Given the description of an element on the screen output the (x, y) to click on. 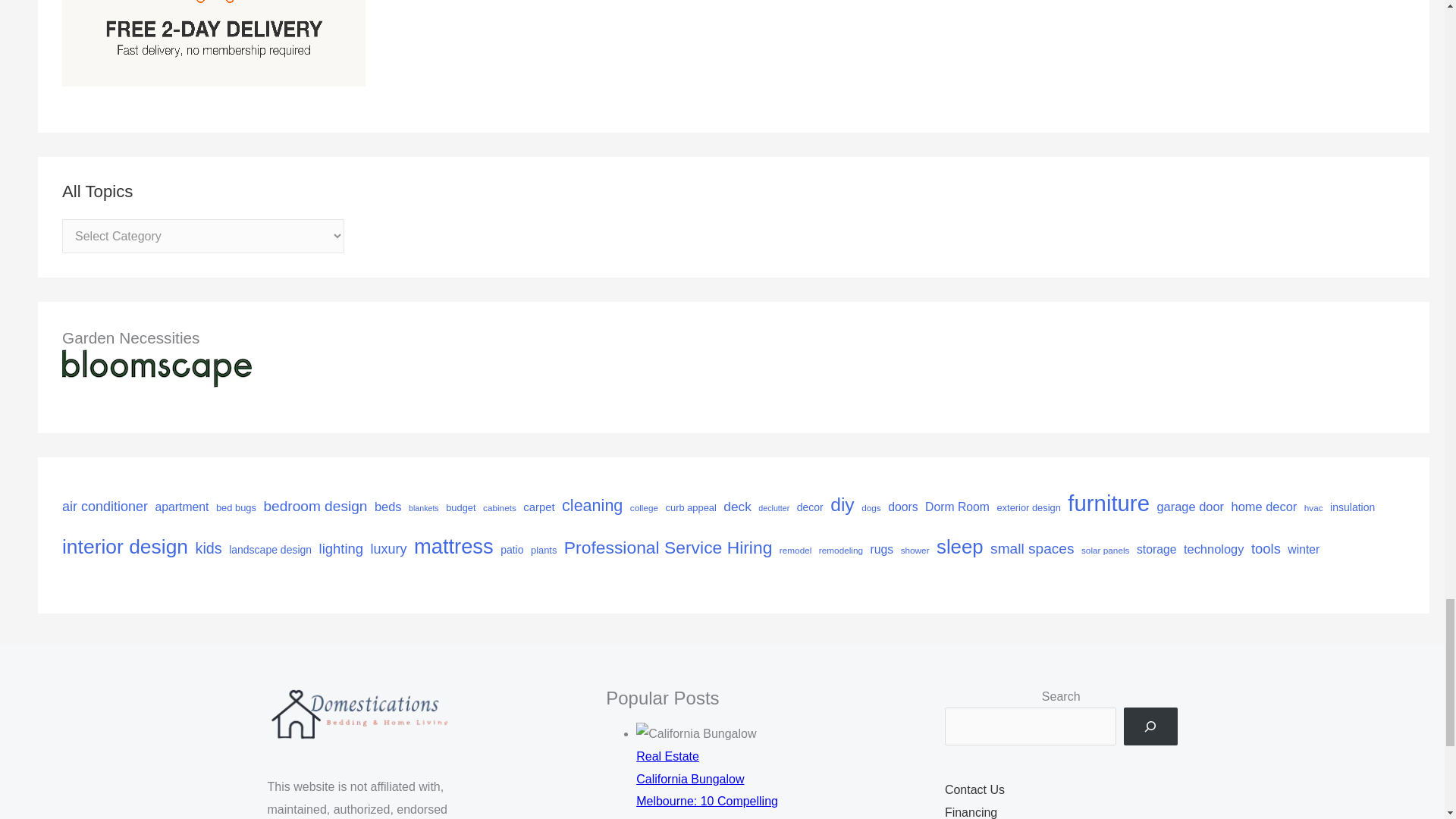
Bloomscape Logo 2 (156, 367)
Free 2 Day Delivery (213, 10)
